Given the description of an element on the screen output the (x, y) to click on. 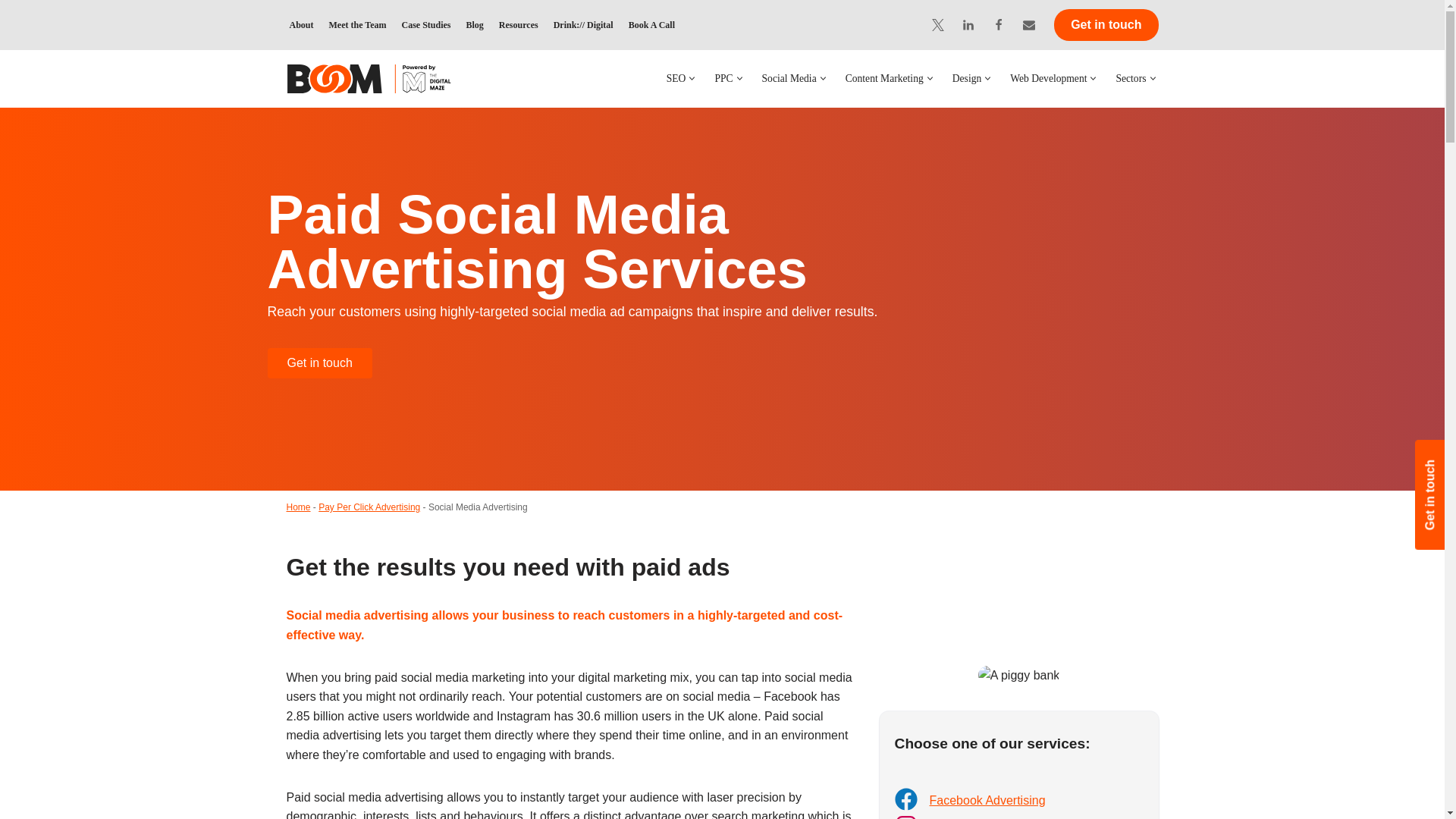
Linkedin (968, 25)
Get in touch (1105, 24)
Meet the Team (358, 24)
Case Studies (426, 24)
Resources (518, 24)
Skip to content (11, 31)
Book A Call (651, 24)
SEO (675, 77)
Email (1029, 25)
Facebook (998, 25)
Blog (474, 24)
PPC (723, 77)
About (301, 24)
Social Media Advertising 1 (1018, 675)
Twitter (937, 25)
